Given the description of an element on the screen output the (x, y) to click on. 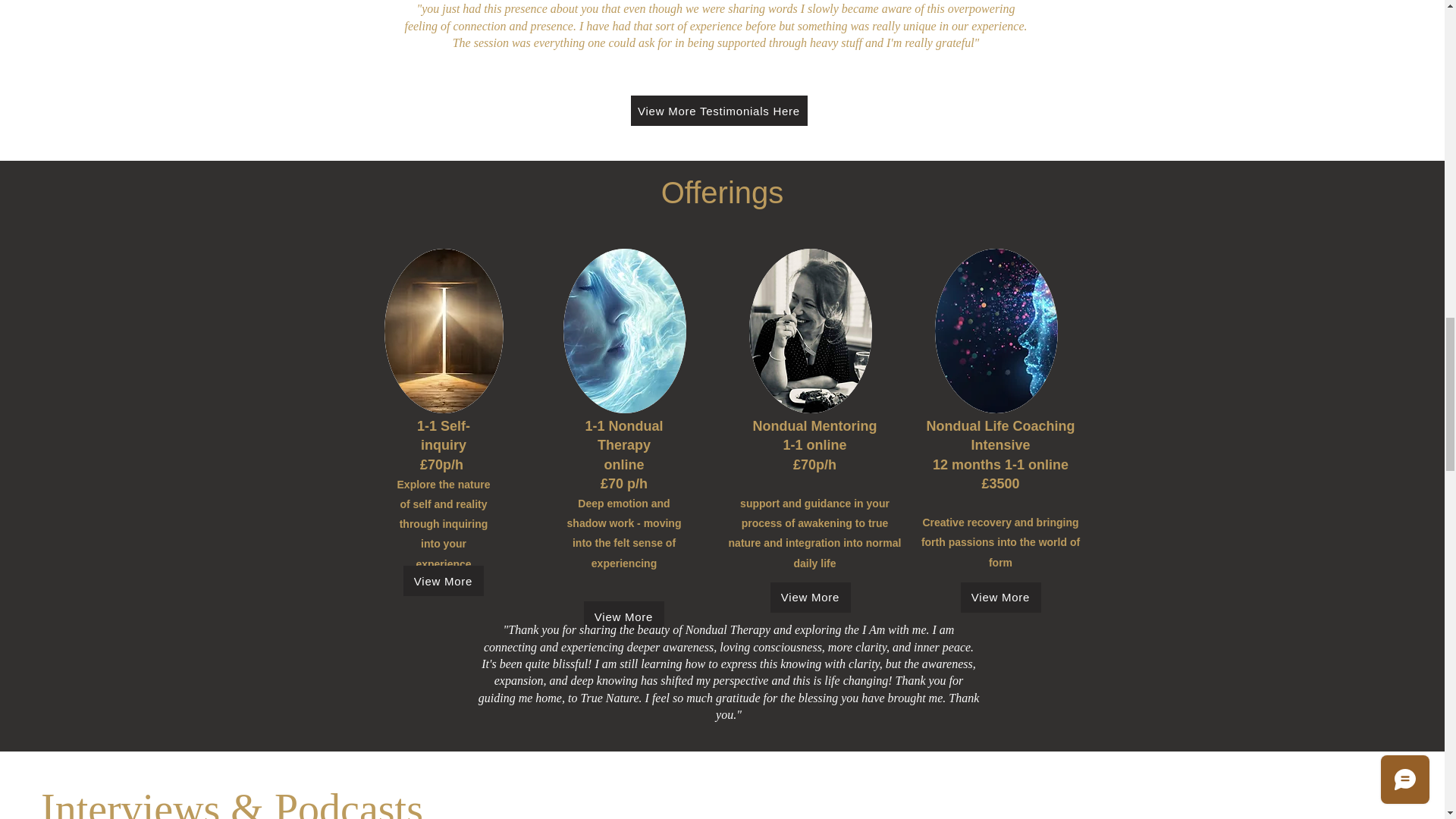
View More (1000, 597)
View More (623, 616)
View More Testimonials Here (719, 110)
View More (443, 580)
View More (810, 597)
